Given the description of an element on the screen output the (x, y) to click on. 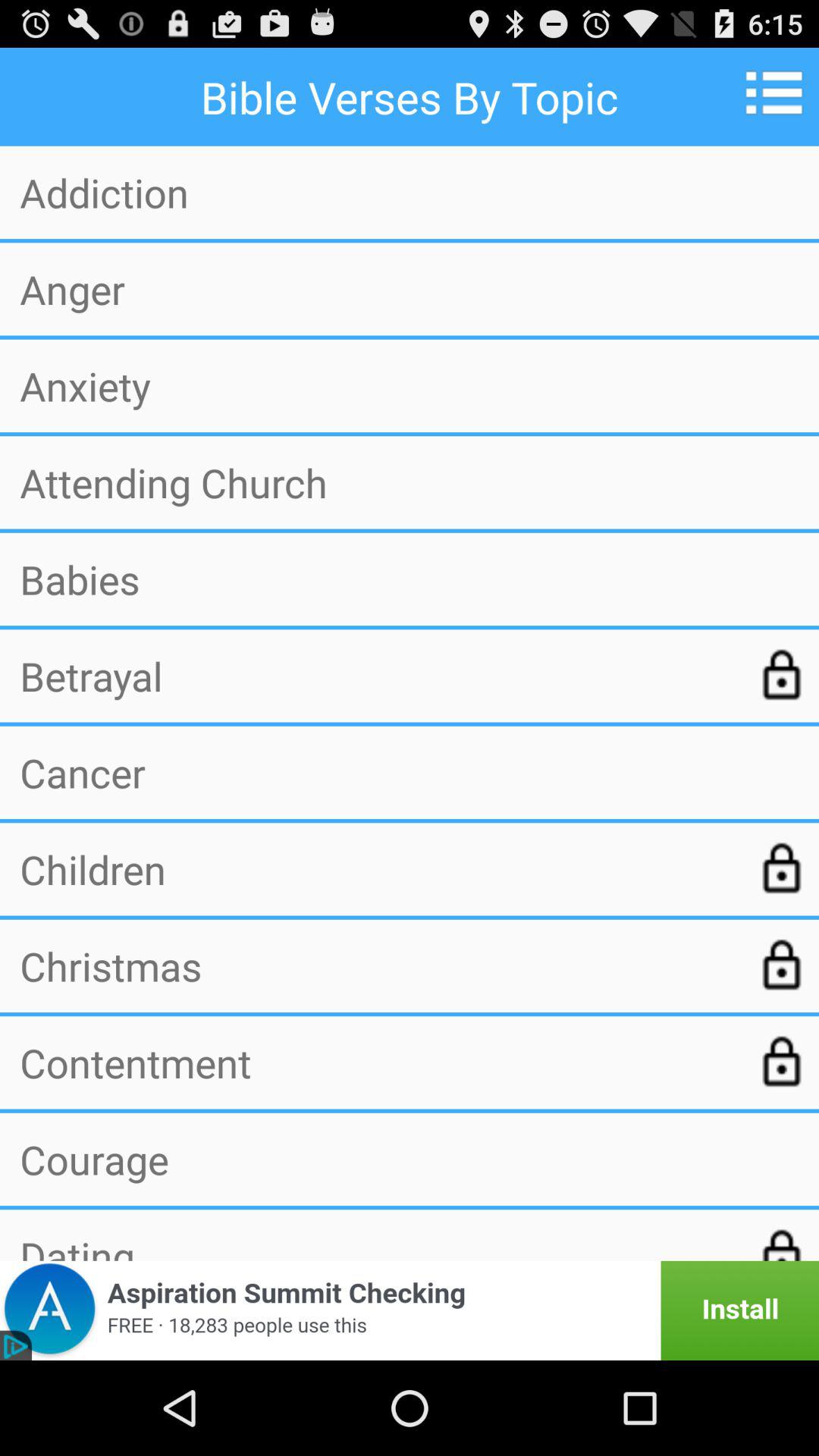
turn off item above the contentment (376, 965)
